Given the description of an element on the screen output the (x, y) to click on. 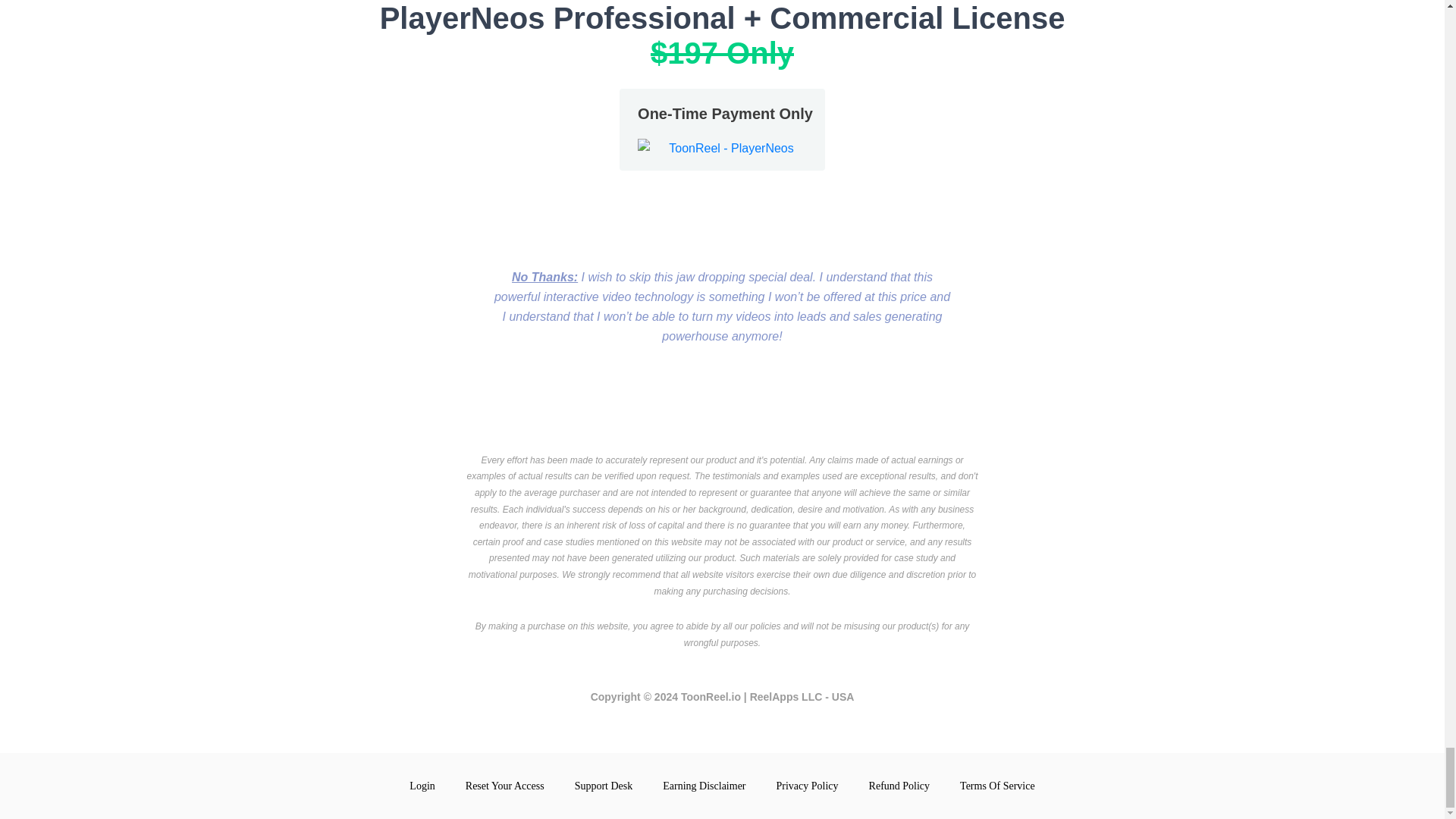
ReelApps LLC (787, 696)
Earning Disclaimer (703, 785)
Privacy Policy (807, 785)
Terms Of Service (997, 785)
Refund Policy (899, 785)
Support Desk (604, 785)
Reset Your Access (504, 785)
ToonReel.io (711, 696)
Login (421, 785)
